Given the description of an element on the screen output the (x, y) to click on. 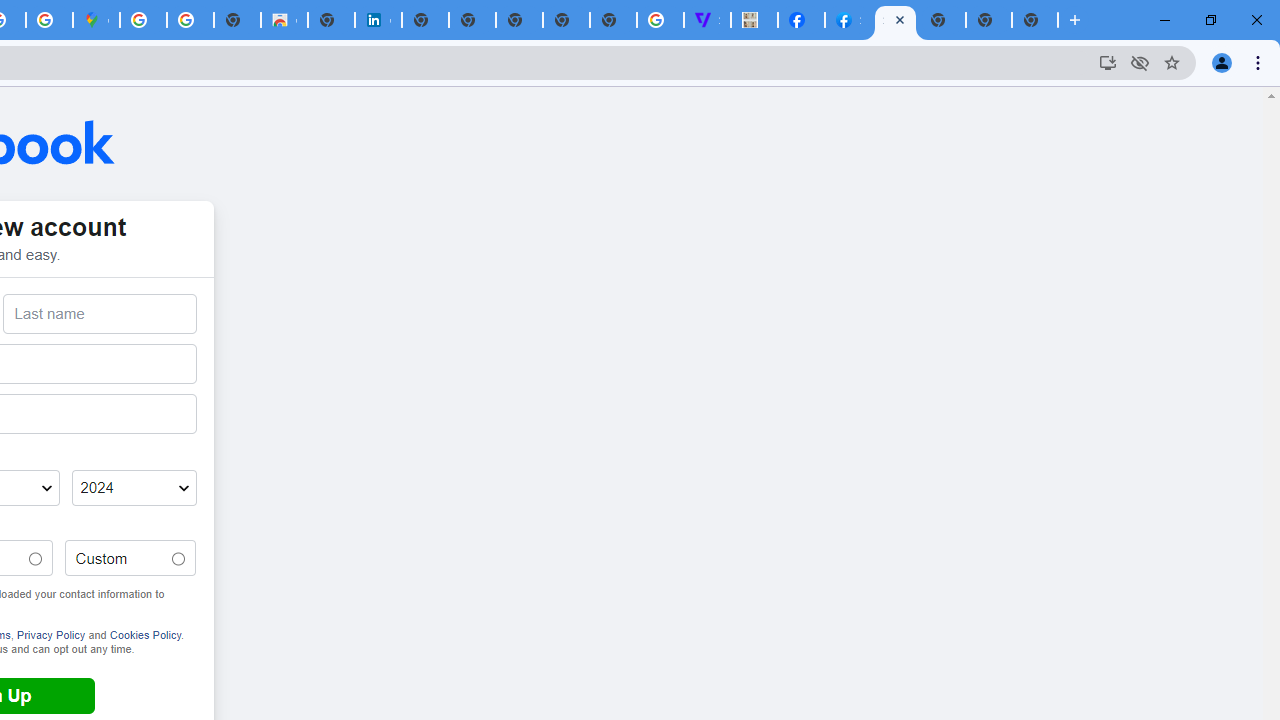
New Tab (1035, 20)
Year (133, 488)
MILEY CYRUS. (754, 20)
Streaming - The Verge (706, 20)
You (1221, 62)
Custom (178, 559)
Third-party cookies blocked (1139, 62)
Miley Cyrus | Facebook (801, 20)
Install Facebook (1107, 62)
Google Maps (96, 20)
Last name (99, 313)
Cookies Policy (144, 633)
New Tab (942, 20)
